Given the description of an element on the screen output the (x, y) to click on. 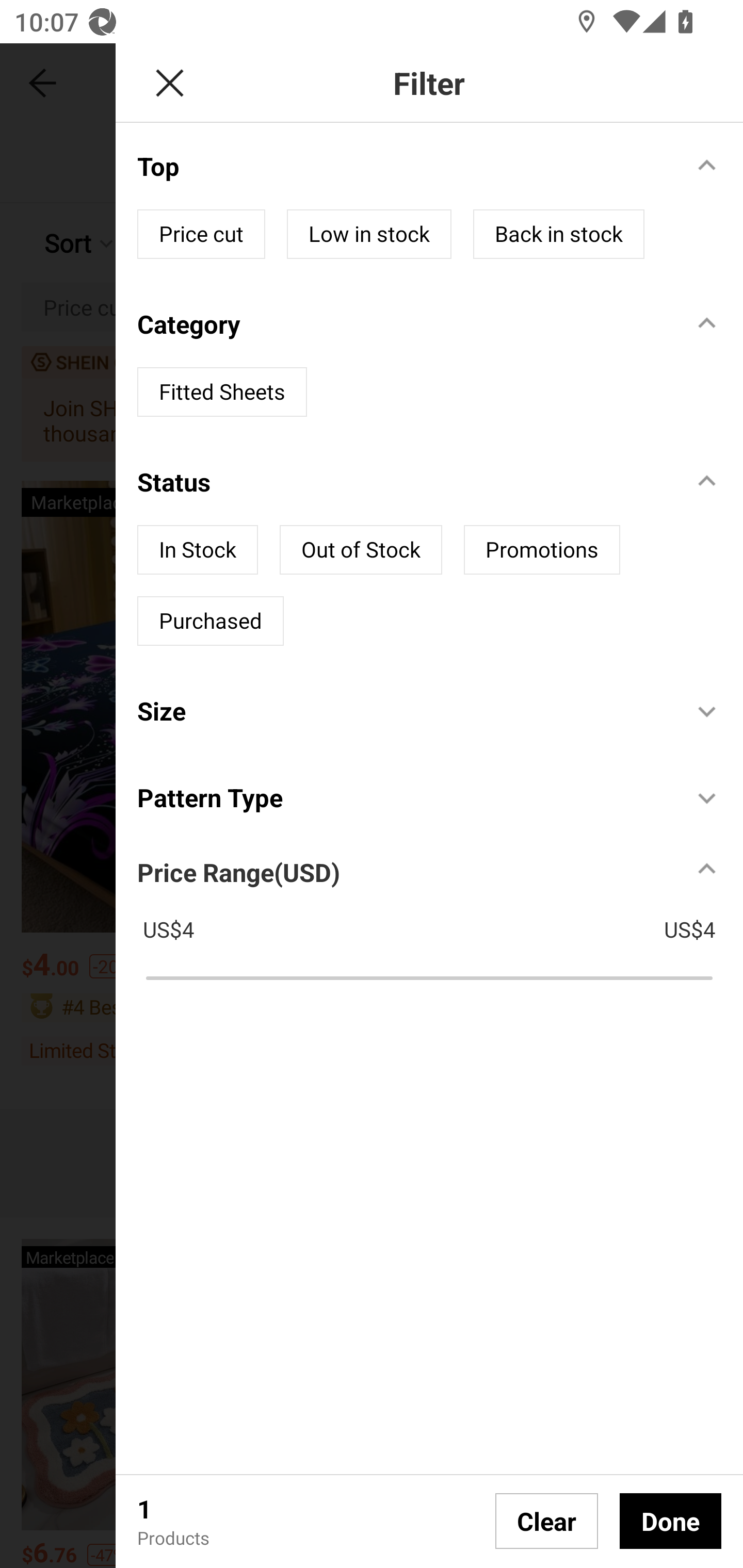
Close (169, 83)
Top (403, 166)
Price cut (201, 234)
Low in stock (368, 234)
Back in stock (558, 234)
Category (403, 323)
Fitted Sheets (221, 391)
Status (403, 481)
In Stock (197, 549)
Out of Stock (360, 549)
Promotions (541, 549)
Purchased (210, 620)
Size (403, 710)
Pattern Type (403, 797)
Price Range(USD) US$4 US$4 (440, 917)
Price Range(USD) (238, 871)
Clear (546, 1520)
Done (670, 1520)
